Given the description of an element on the screen output the (x, y) to click on. 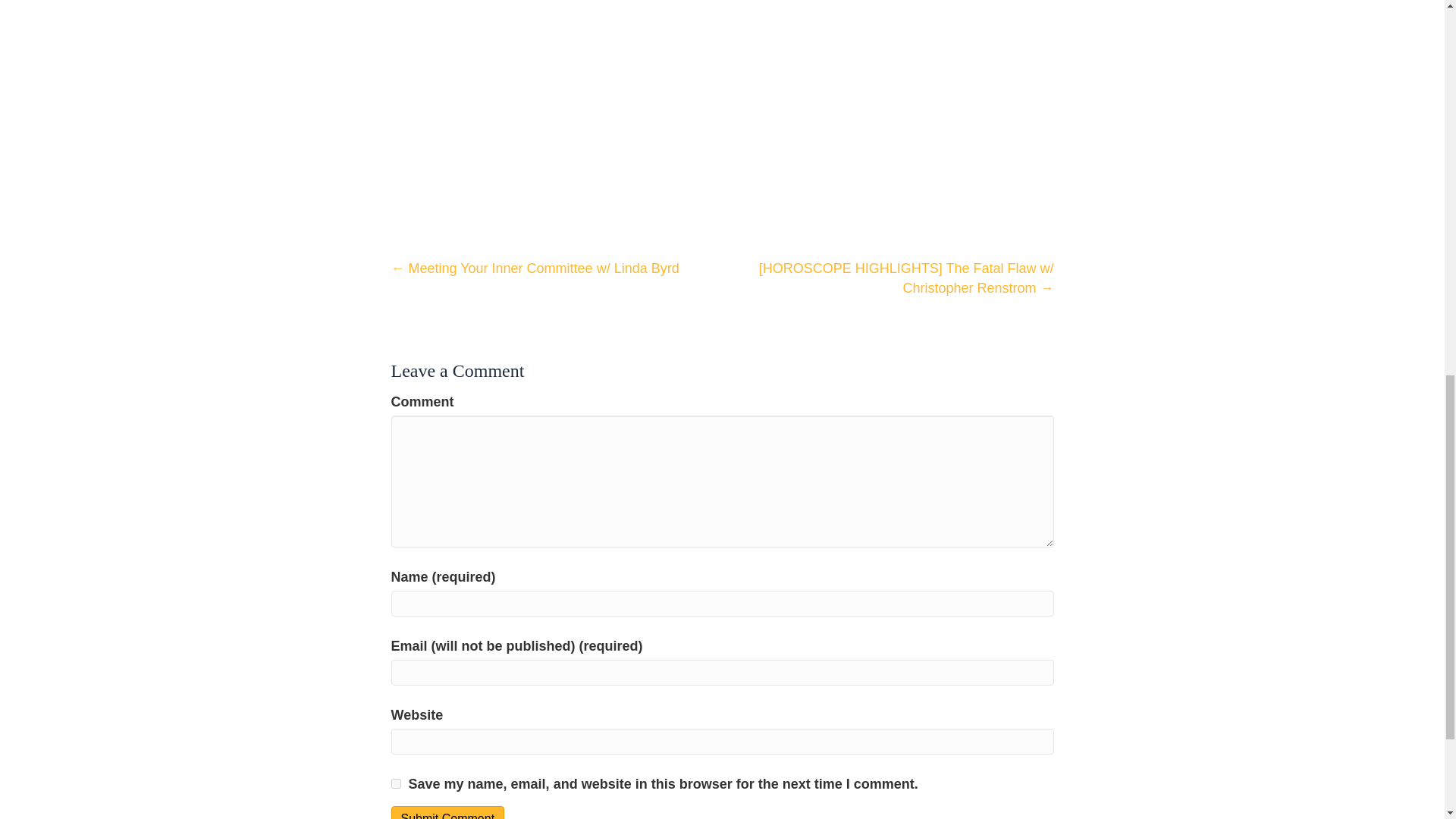
Submit Comment (448, 812)
yes (396, 783)
